Given the description of an element on the screen output the (x, y) to click on. 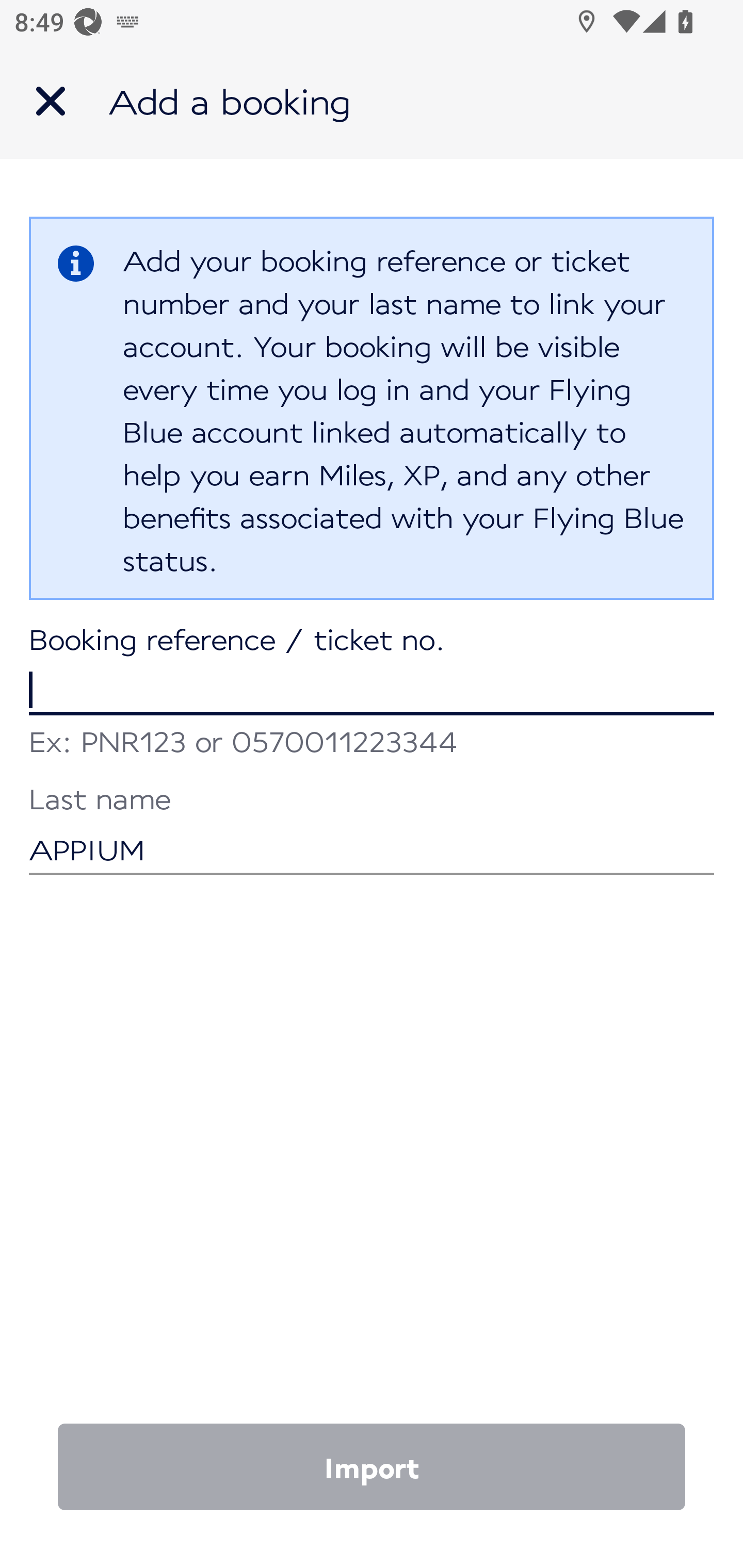
Booking reference / ticket no. (371, 671)
APPIUM (371, 831)
Import (371, 1466)
